Given the description of an element on the screen output the (x, y) to click on. 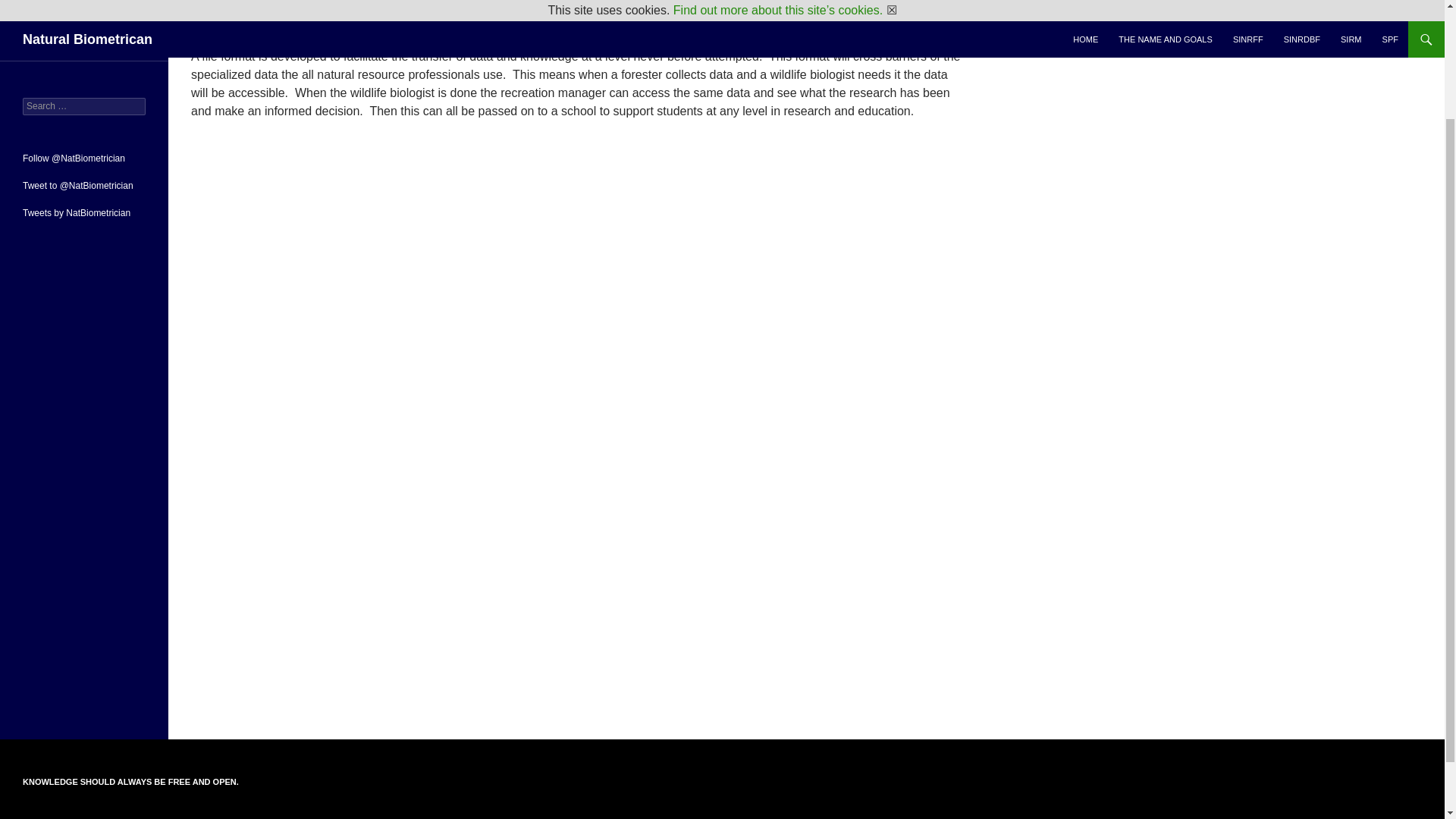
Tweets by NatBiometrician (77, 212)
PROJECTS (84, 17)
CONTACT US (84, 46)
PRODUCTS (84, 2)
